Given the description of an element on the screen output the (x, y) to click on. 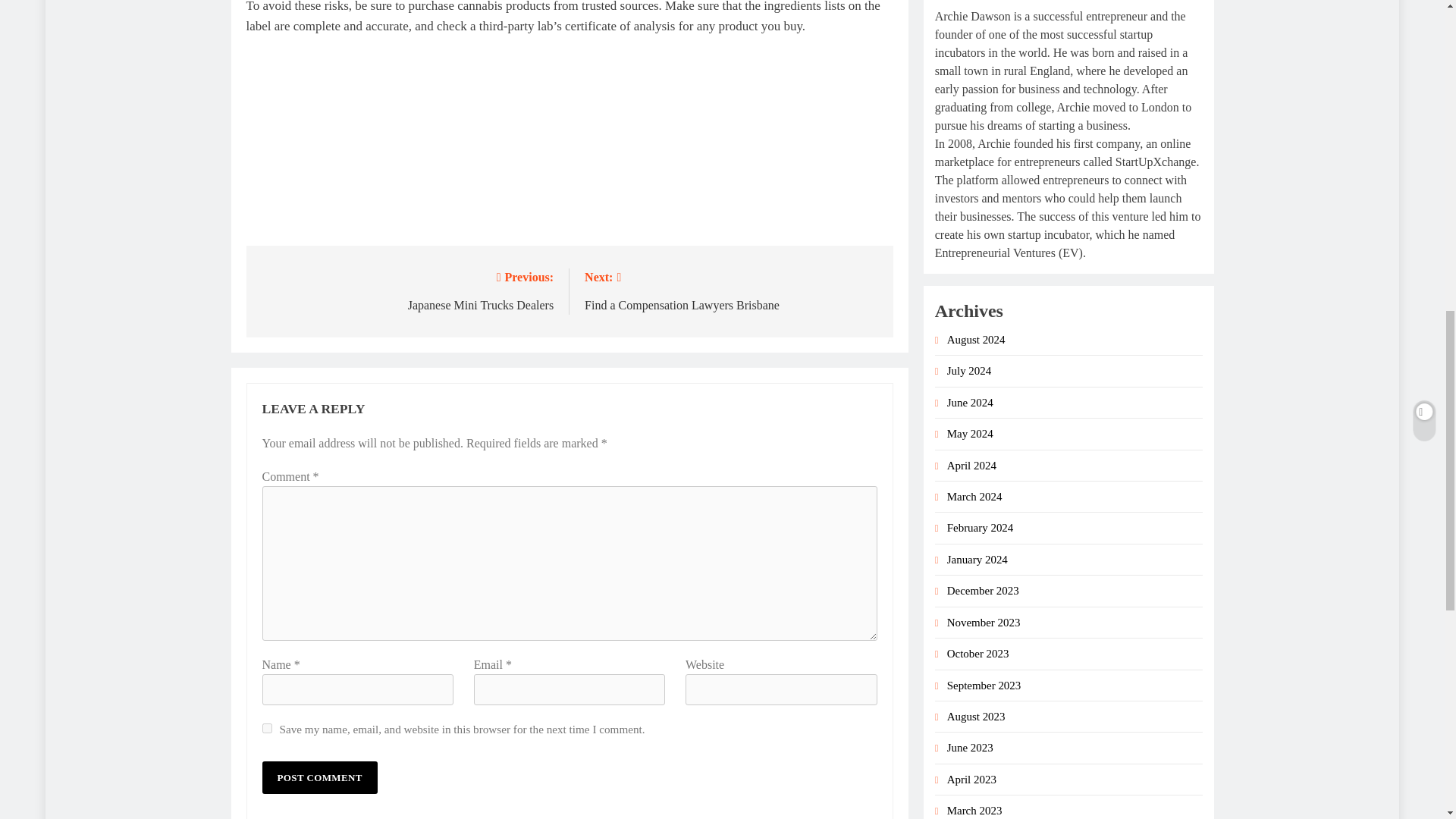
yes (731, 290)
Post Comment (267, 728)
Post Comment (406, 290)
